Given the description of an element on the screen output the (x, y) to click on. 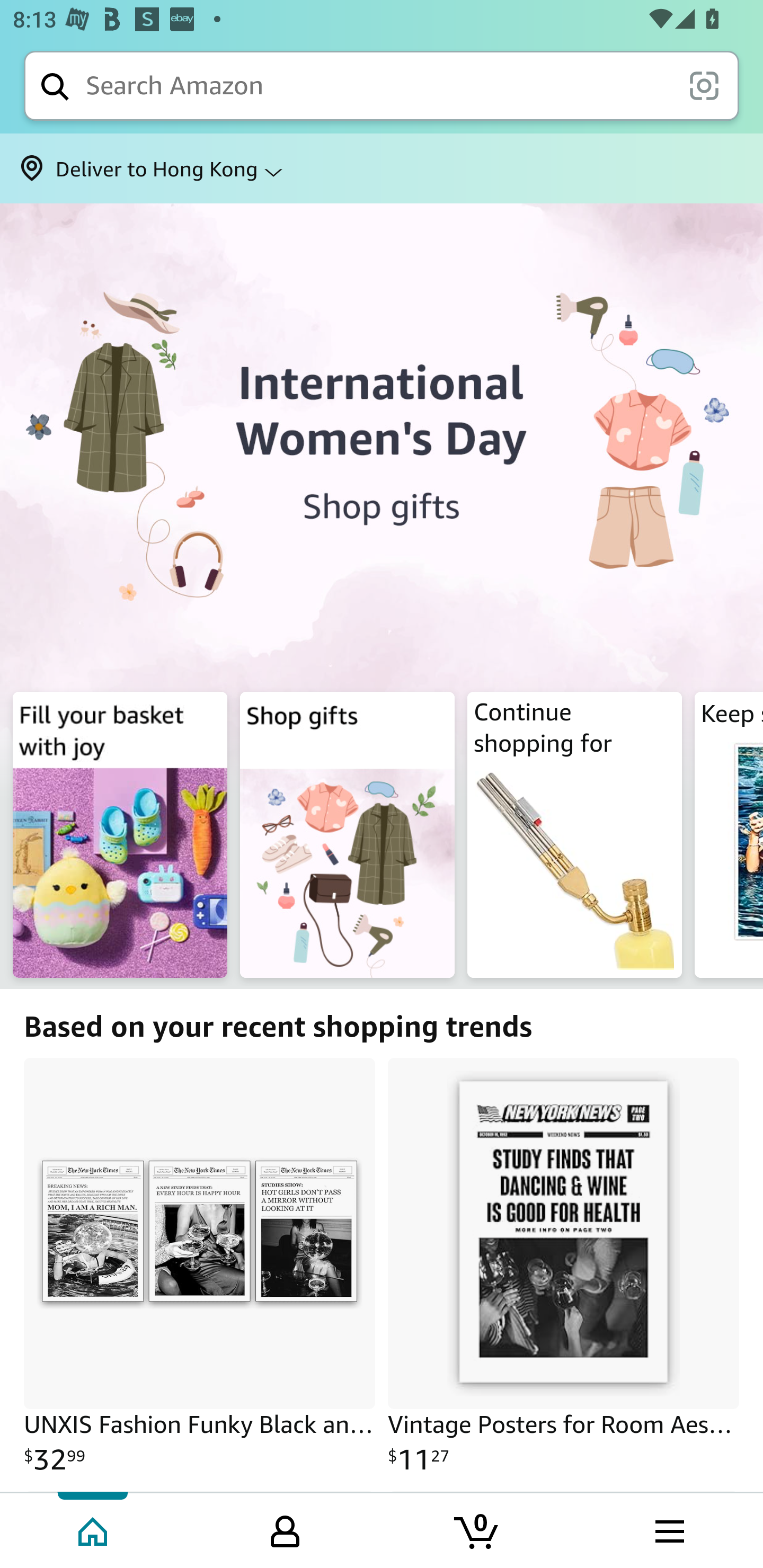
Search Search Search Amazon scan it (381, 85)
scan it (704, 85)
Deliver to Hong Kong ⌵ (381, 168)
Shop gifts for International Women's Day (381, 444)
Home Tab 1 of 4 (94, 1529)
Your Amazon.com Tab 2 of 4 (285, 1529)
Cart 0 item Tab 3 of 4 0 (477, 1529)
Browse menu Tab 4 of 4 (668, 1529)
